Given the description of an element on the screen output the (x, y) to click on. 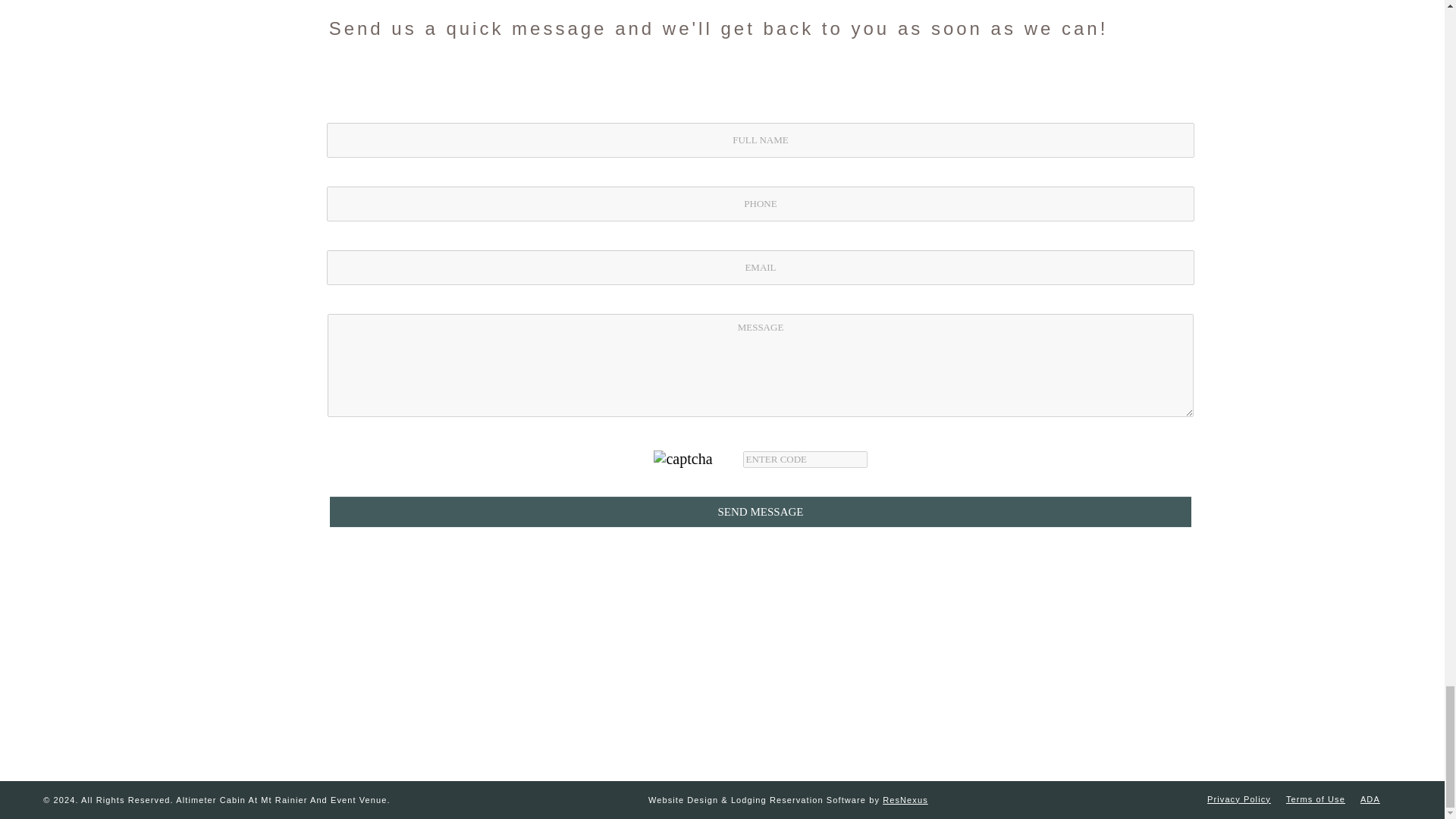
ADA (1369, 798)
ResNexus (905, 799)
Enter Code (804, 459)
Full Name (760, 140)
Privacy Policy (1238, 798)
Message (760, 364)
SEND MESSAGE (761, 512)
Phone (760, 203)
Terms of Use (1315, 798)
SEND MESSAGE (761, 512)
Email (760, 267)
